Given the description of an element on the screen output the (x, y) to click on. 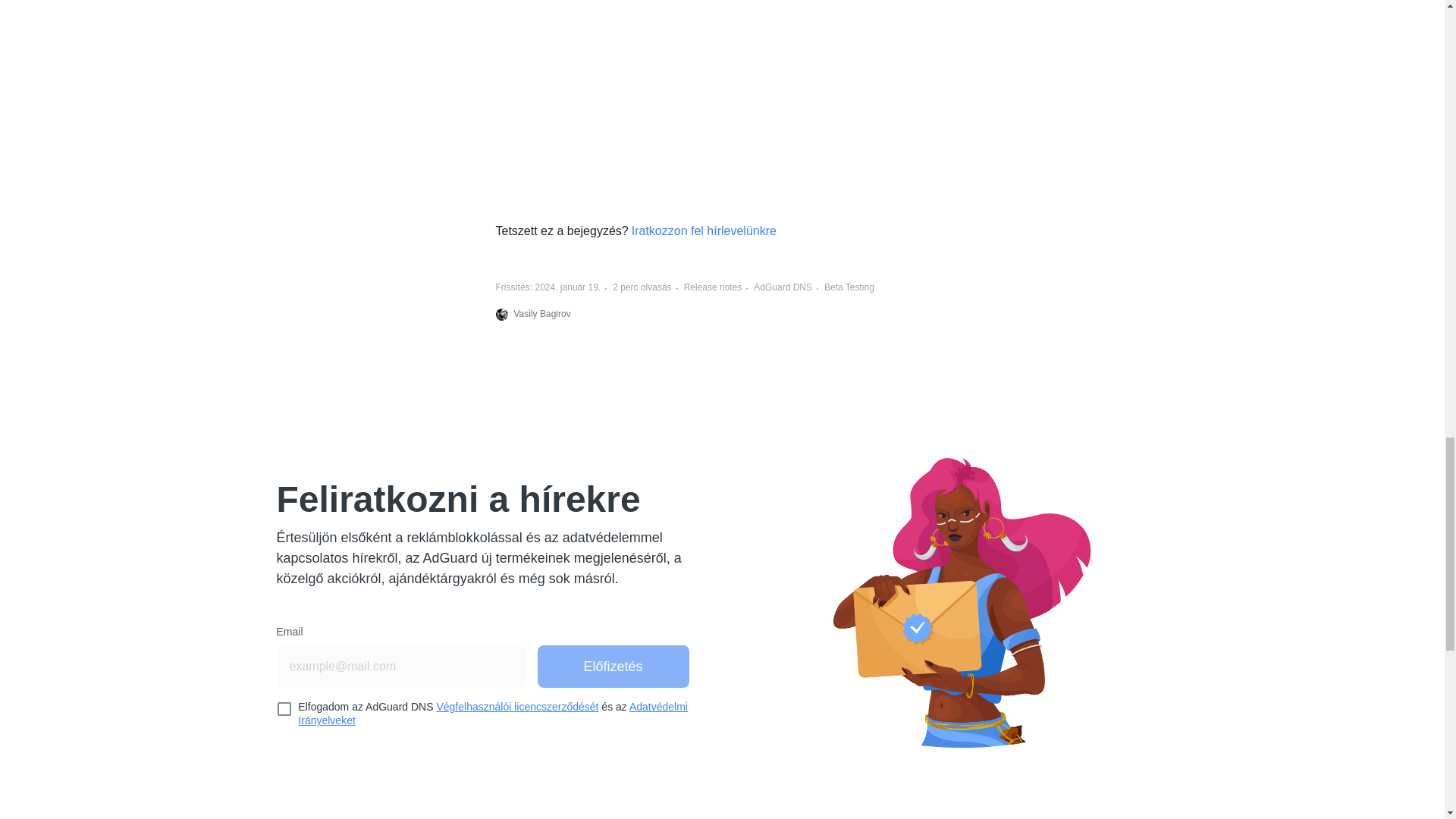
YouTube video player (722, 99)
